Given the description of an element on the screen output the (x, y) to click on. 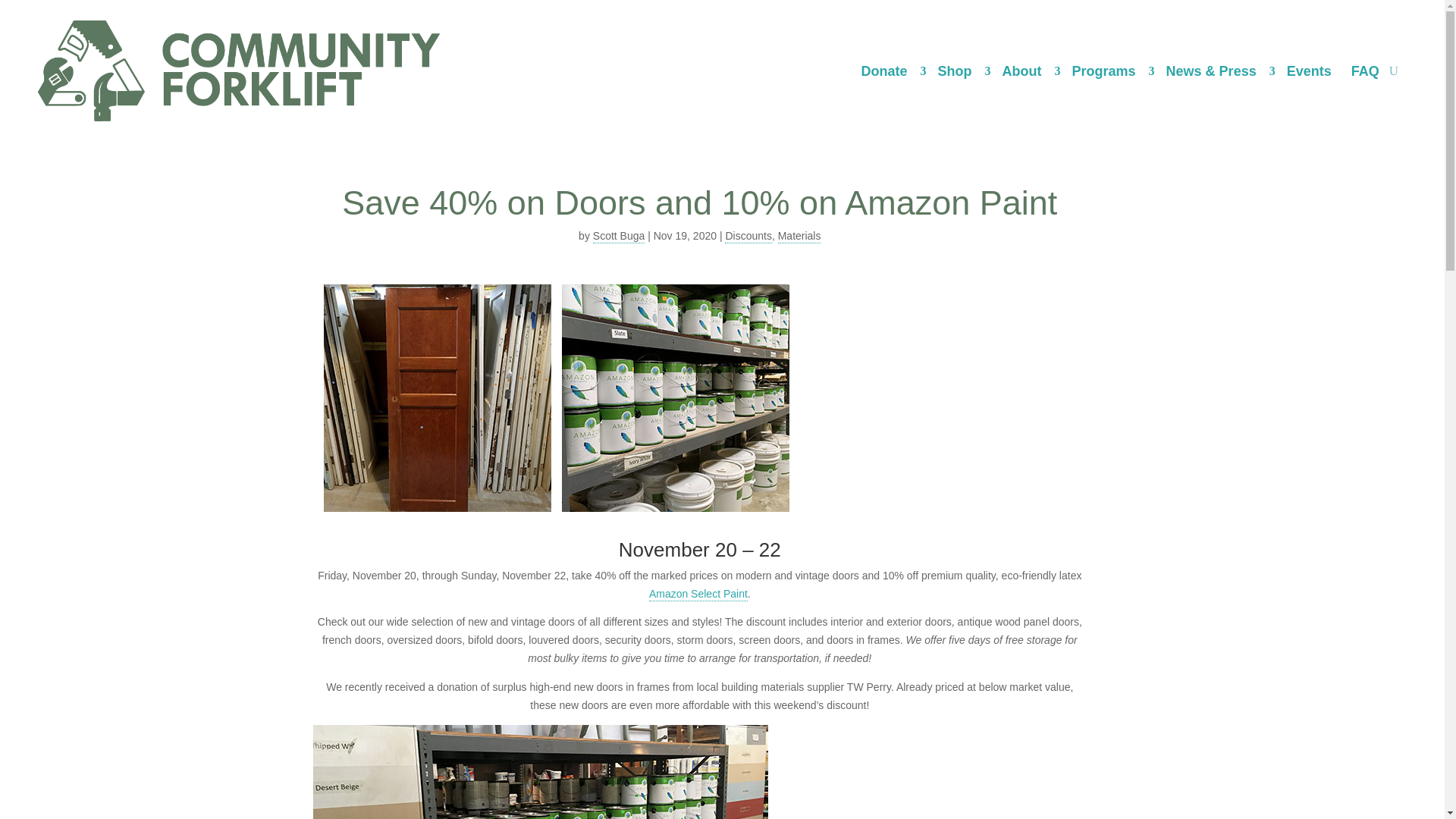
Programs (1109, 70)
Posts by Scott Buga (618, 236)
